Given the description of an element on the screen output the (x, y) to click on. 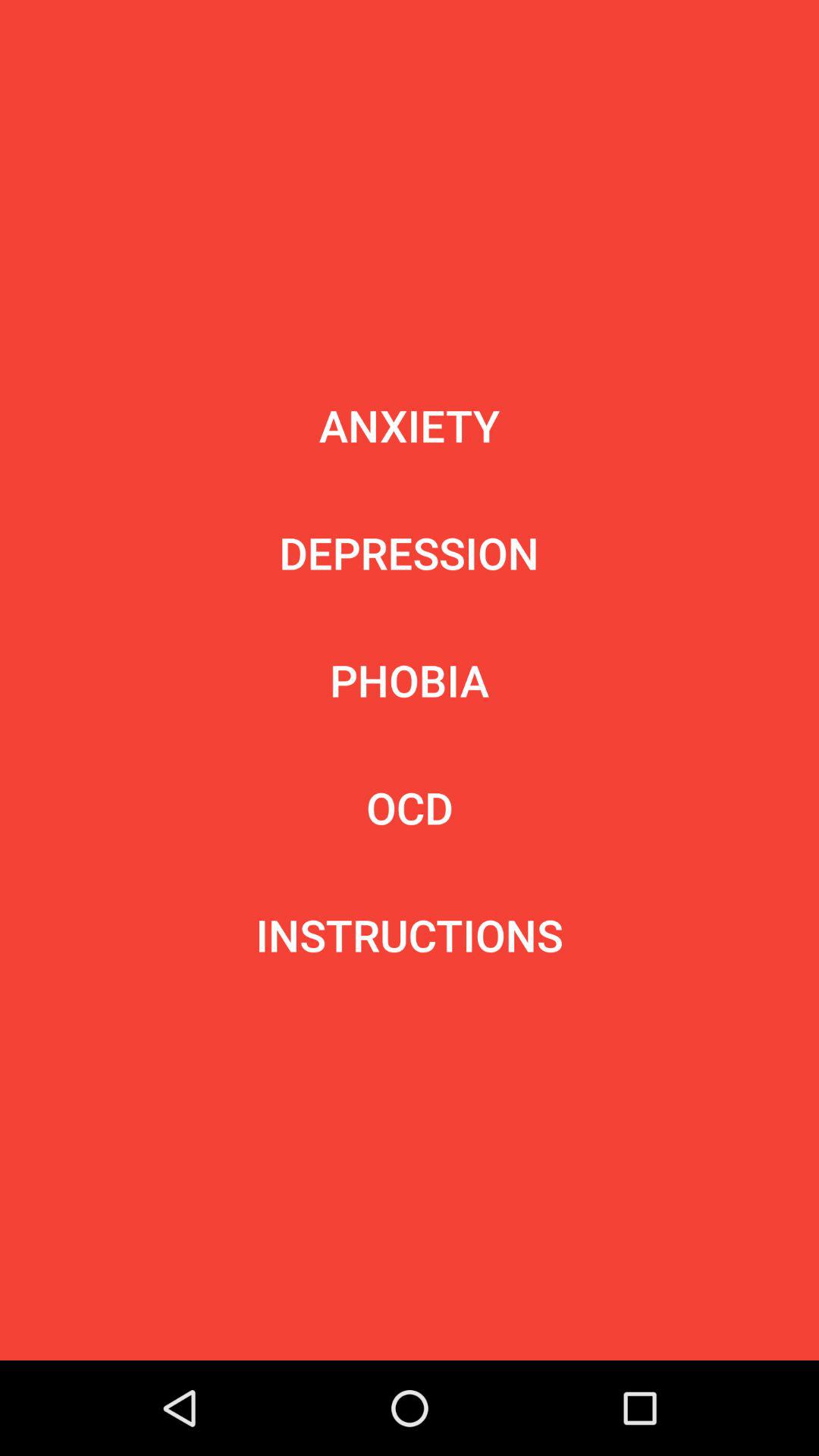
turn on the item above the depression icon (409, 425)
